Given the description of an element on the screen output the (x, y) to click on. 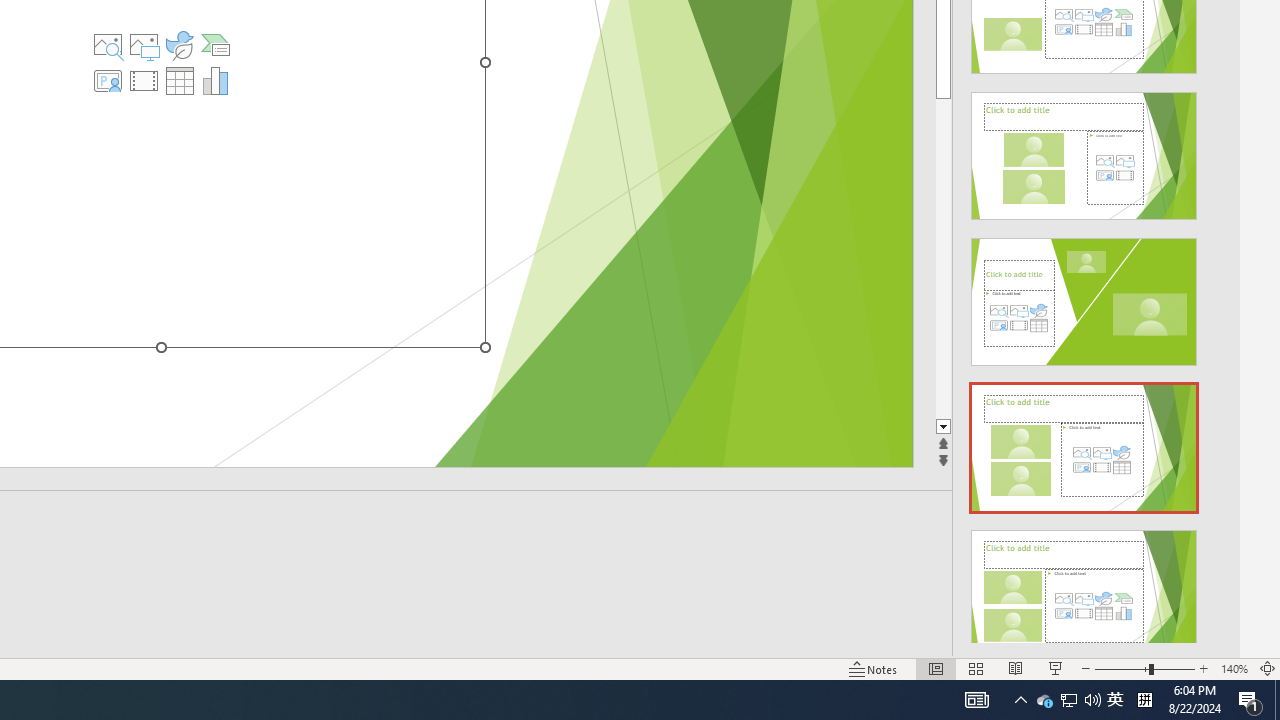
Insert Video (144, 80)
Insert Table (179, 80)
Insert a SmartArt Graphic (215, 44)
